Given the description of an element on the screen output the (x, y) to click on. 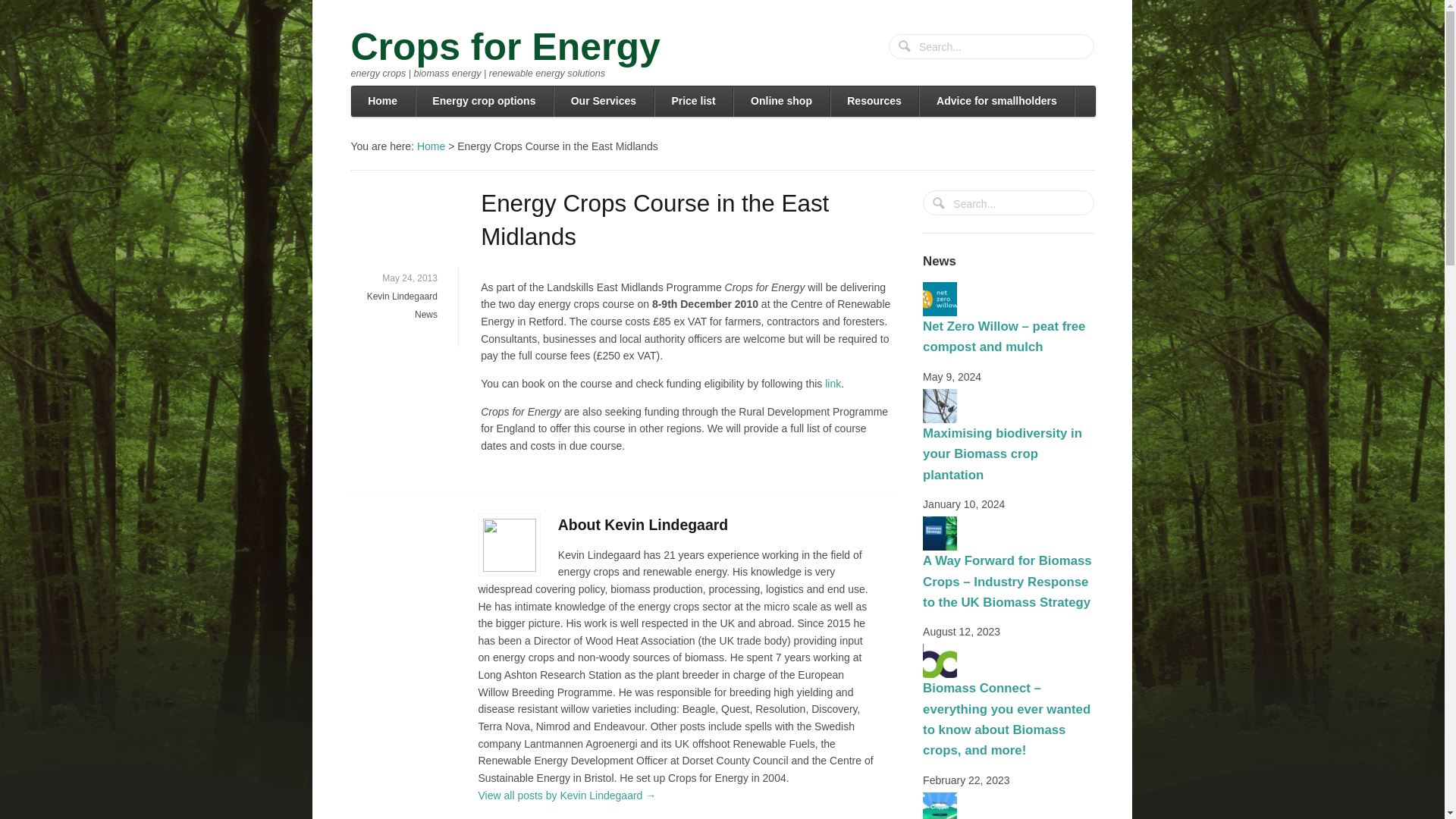
Search (940, 204)
Search (906, 47)
Posts by Kevin Lindegaard (402, 296)
Online shop (780, 101)
Search (906, 47)
Search (940, 204)
Our Services (603, 101)
Home (381, 101)
Energy crop options (483, 101)
Crops for Energy (430, 145)
Price list (693, 101)
Crops for Energy (504, 46)
